Given the description of an element on the screen output the (x, y) to click on. 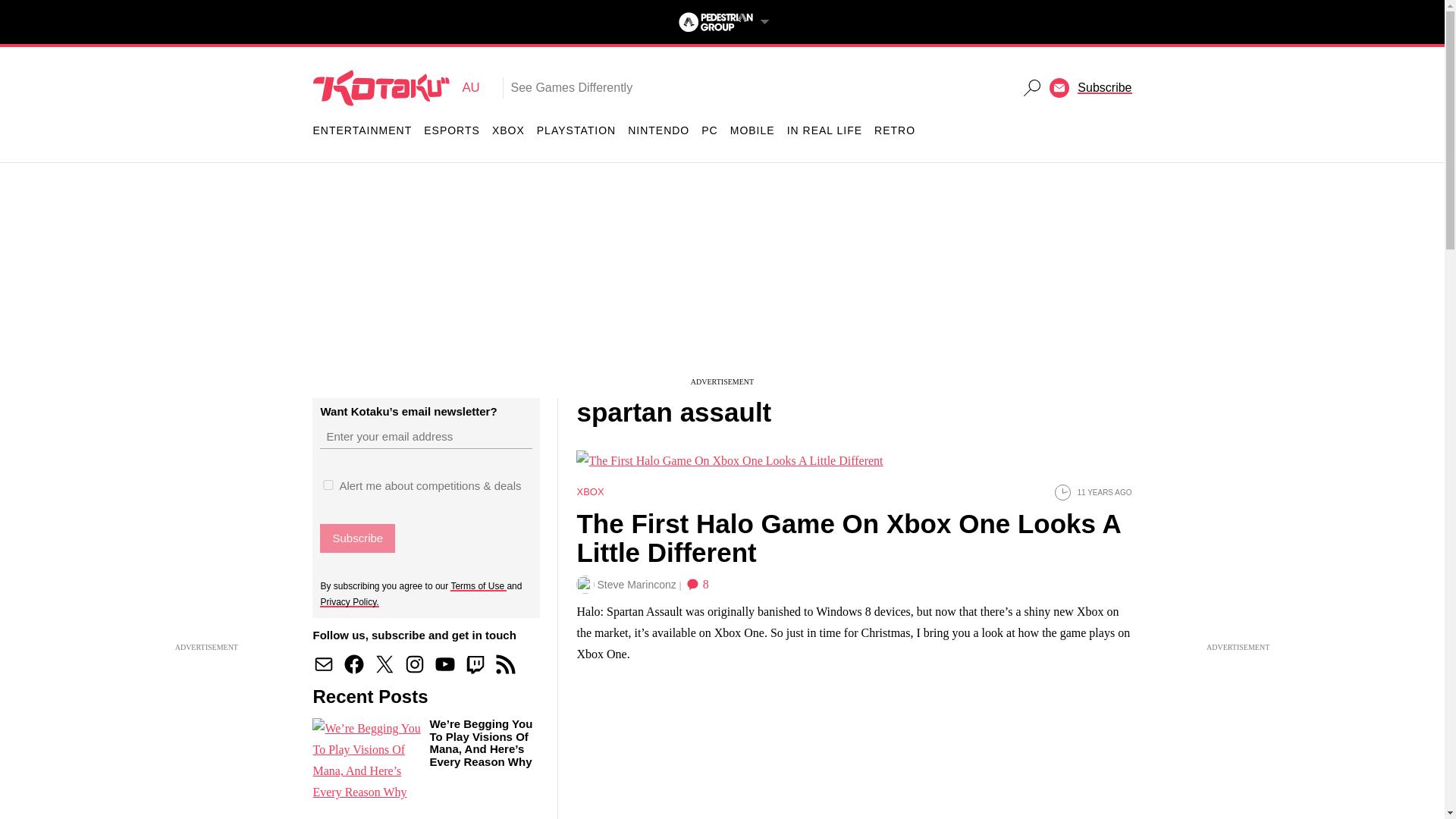
feed (396, 87)
XBOX (505, 663)
youtube (508, 130)
Subscribe (445, 663)
facebook (771, 449)
ENTERTAINMENT (353, 663)
Subscribe (362, 130)
twitch (1104, 87)
IN REAL LIFE (475, 663)
